Given the description of an element on the screen output the (x, y) to click on. 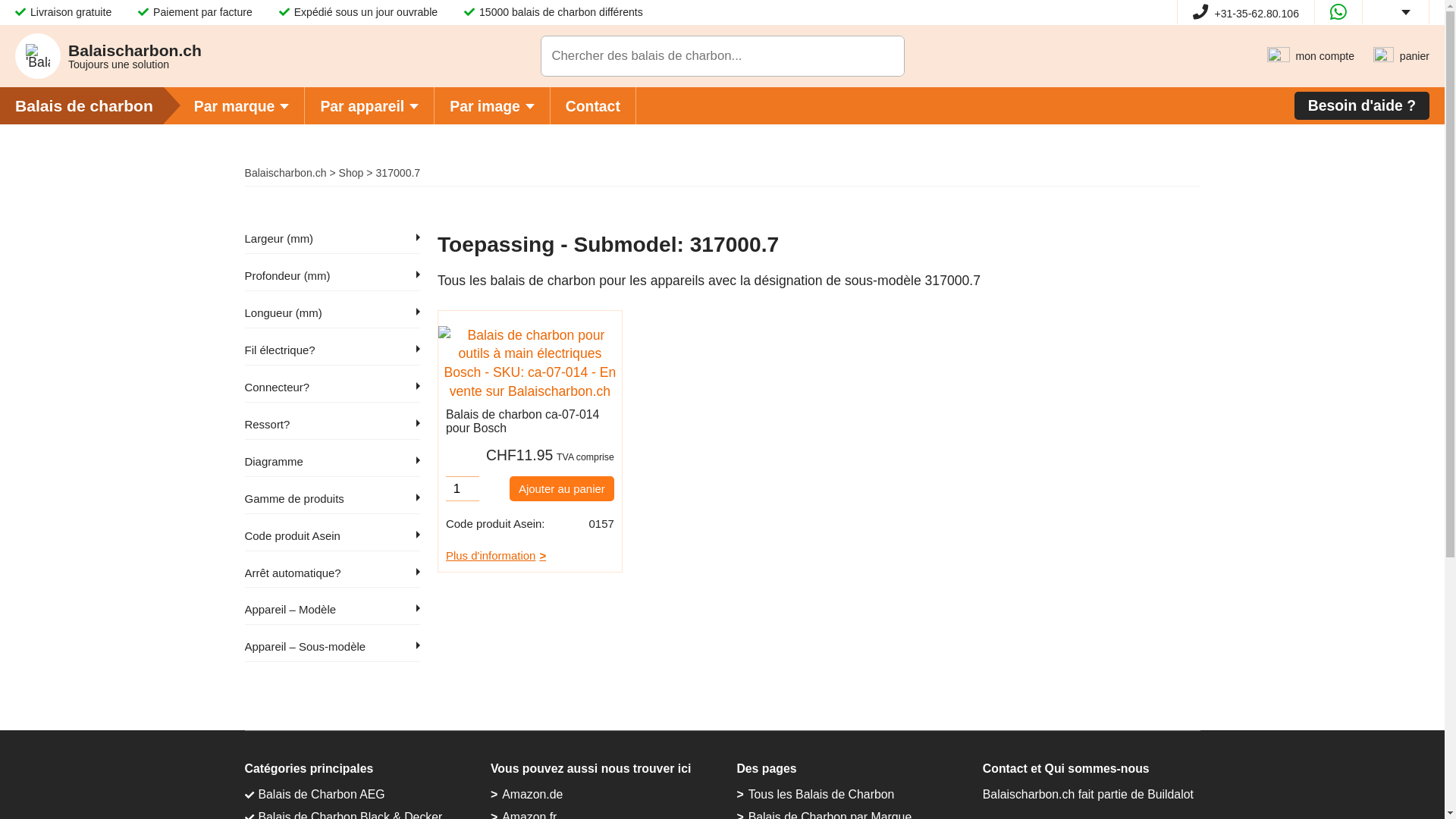
ch Element type: hover (1388, 11)
Shop Element type: text (351, 172)
Par marque Element type: text (241, 105)
Amazon.de Element type: text (532, 793)
Par appareil Element type: text (369, 105)
Tous les Balais de Charbon Element type: text (821, 793)
Balais de Charbon AEG Element type: text (320, 793)
panier Element type: text (1401, 56)
Contact Element type: text (593, 105)
Plus d'information Element type: text (529, 558)
mon compte Element type: text (1309, 56)
Ajouter au panier Element type: text (561, 488)
Balais de charbon ca-07-014 pour Bosch
CHF11.95 TVA comprise Element type: text (529, 399)
Balais de charbon Element type: text (96, 105)
Par image Element type: text (492, 105)
Balaischarbon.ch Element type: text (285, 172)
Balaischarbon.ch
Toujours une solution Element type: text (108, 55)
+31-35-62.80.106 Element type: text (1245, 13)
Besoin d'aide ? Element type: text (1361, 105)
